Given the description of an element on the screen output the (x, y) to click on. 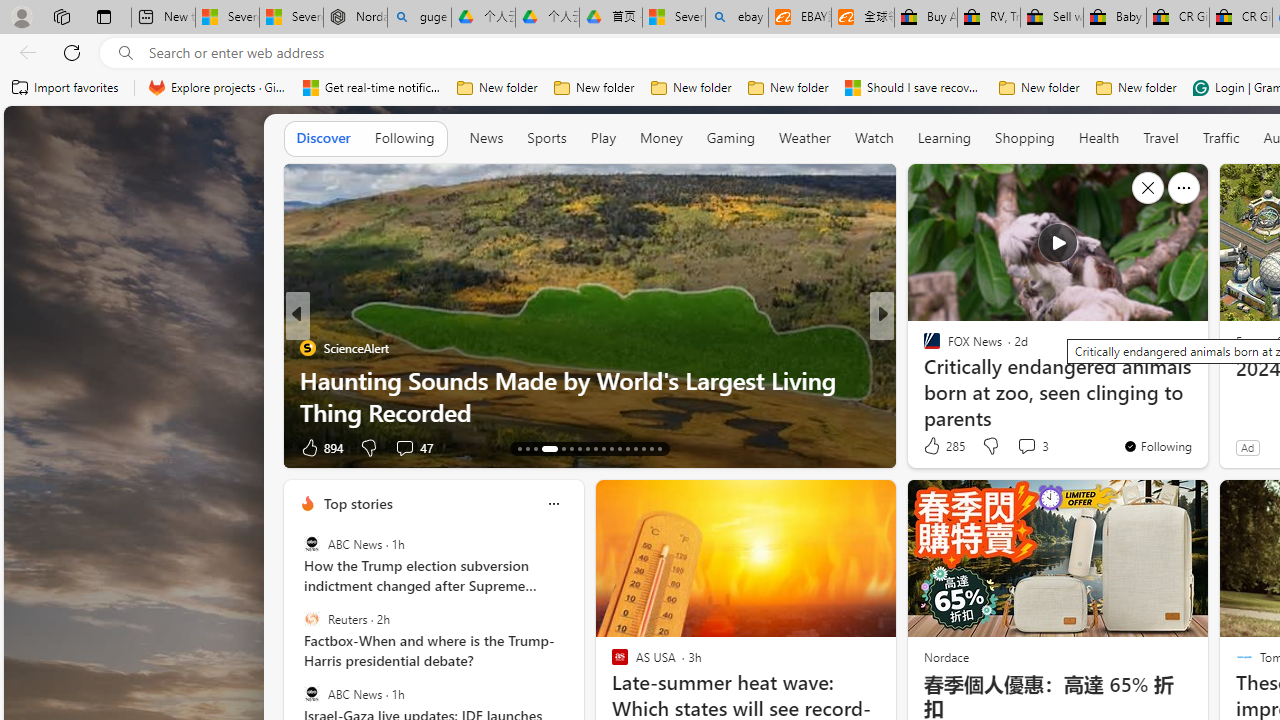
Search icon (125, 53)
Sell worldwide with eBay (1051, 17)
Shopping (1025, 138)
Rarest.org (307, 380)
Import favorites (65, 88)
You're following FOX News (1157, 445)
RV, Trailer & Camper Steps & Ladders for sale | eBay (988, 17)
Health (1098, 138)
News (485, 138)
CNBC (923, 347)
AutomationID: tab-19 (578, 448)
AutomationID: tab-17 (557, 448)
